Given the description of an element on the screen output the (x, y) to click on. 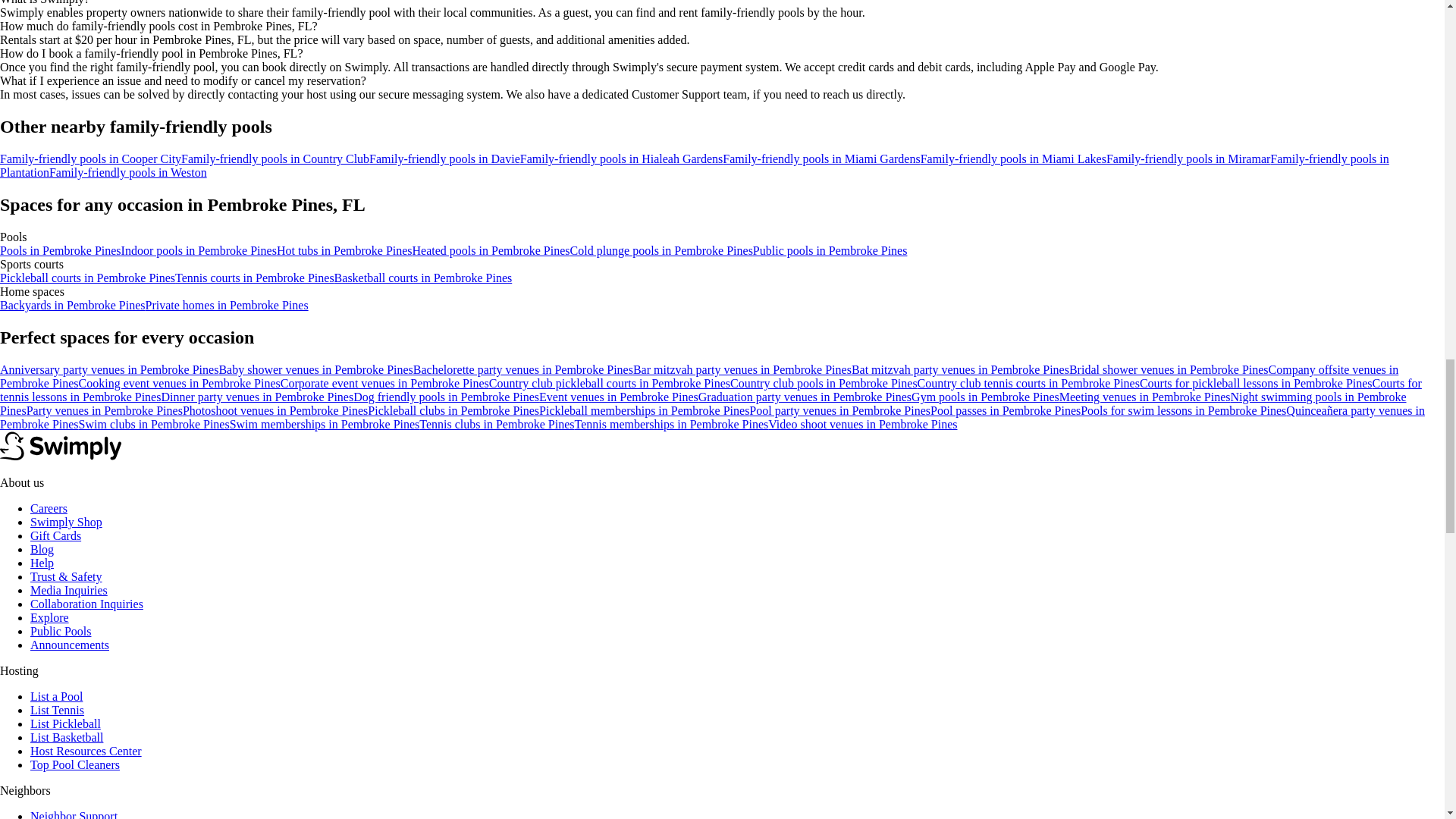
Gift Cards (55, 535)
Hot tubs in Pembroke Pines (344, 250)
Careers (48, 508)
List Pickleball (65, 723)
List Tennis (57, 709)
Top Pool Cleaners (74, 764)
Family-friendly pools in Cooper City (90, 158)
List a Pool (56, 696)
Family-friendly pools in Hialeah Gardens (621, 158)
Family-friendly pools in Weston (127, 172)
